Given the description of an element on the screen output the (x, y) to click on. 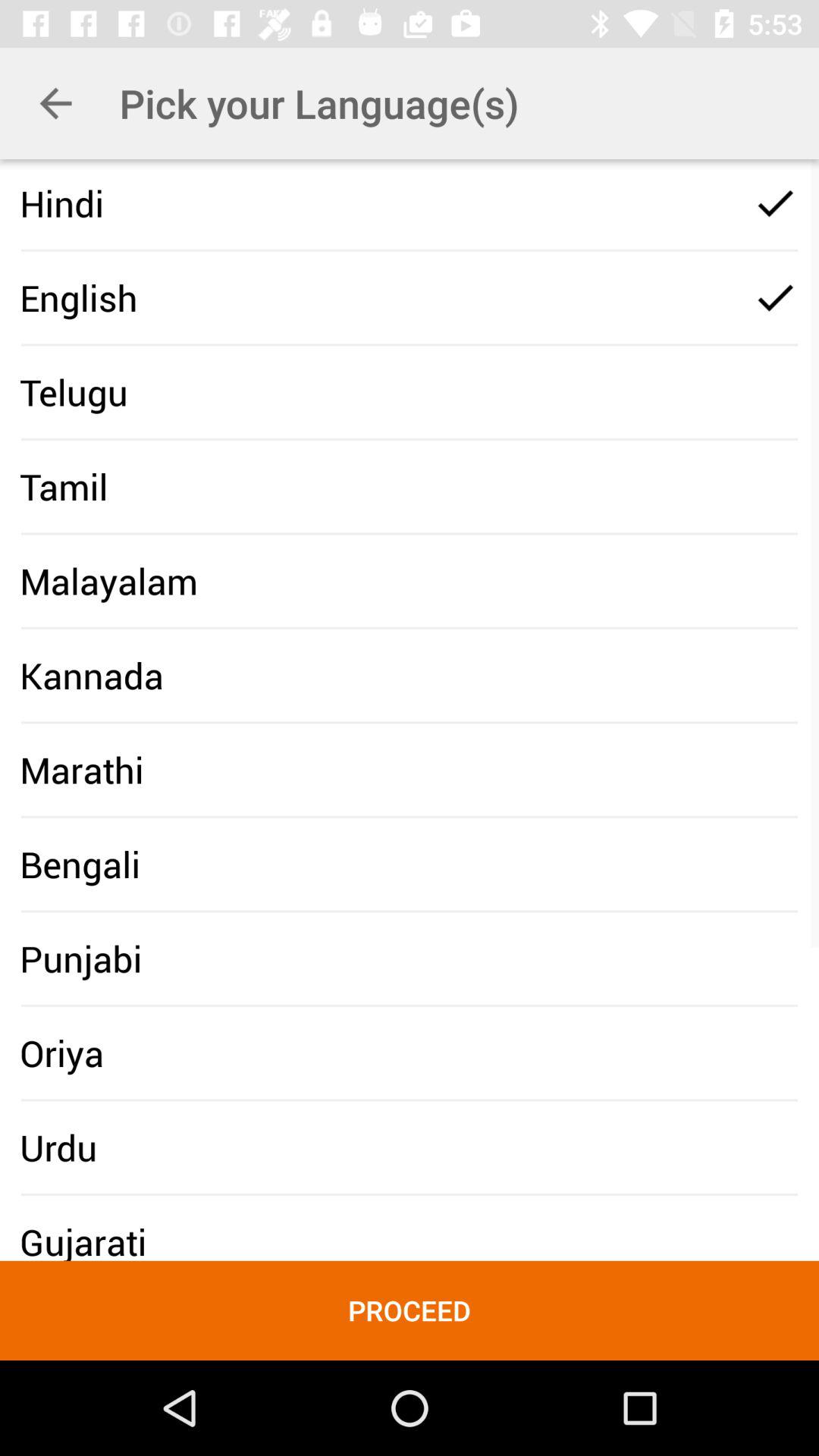
press icon above english icon (61, 203)
